Given the description of an element on the screen output the (x, y) to click on. 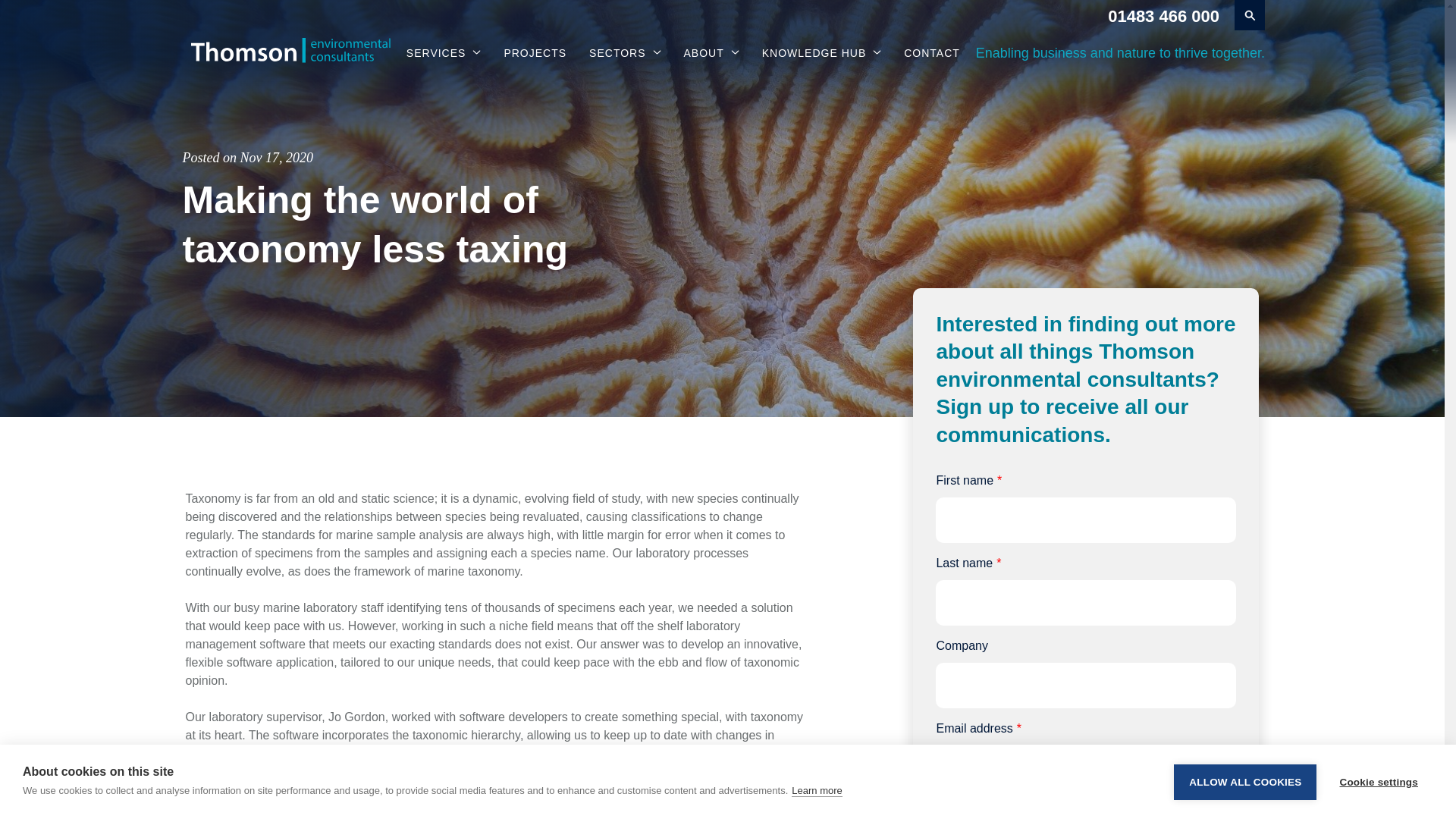
ALLOW ALL COOKIES (1244, 811)
Cookie settings (1377, 803)
SERVICES (443, 53)
search (1249, 15)
